Given the description of an element on the screen output the (x, y) to click on. 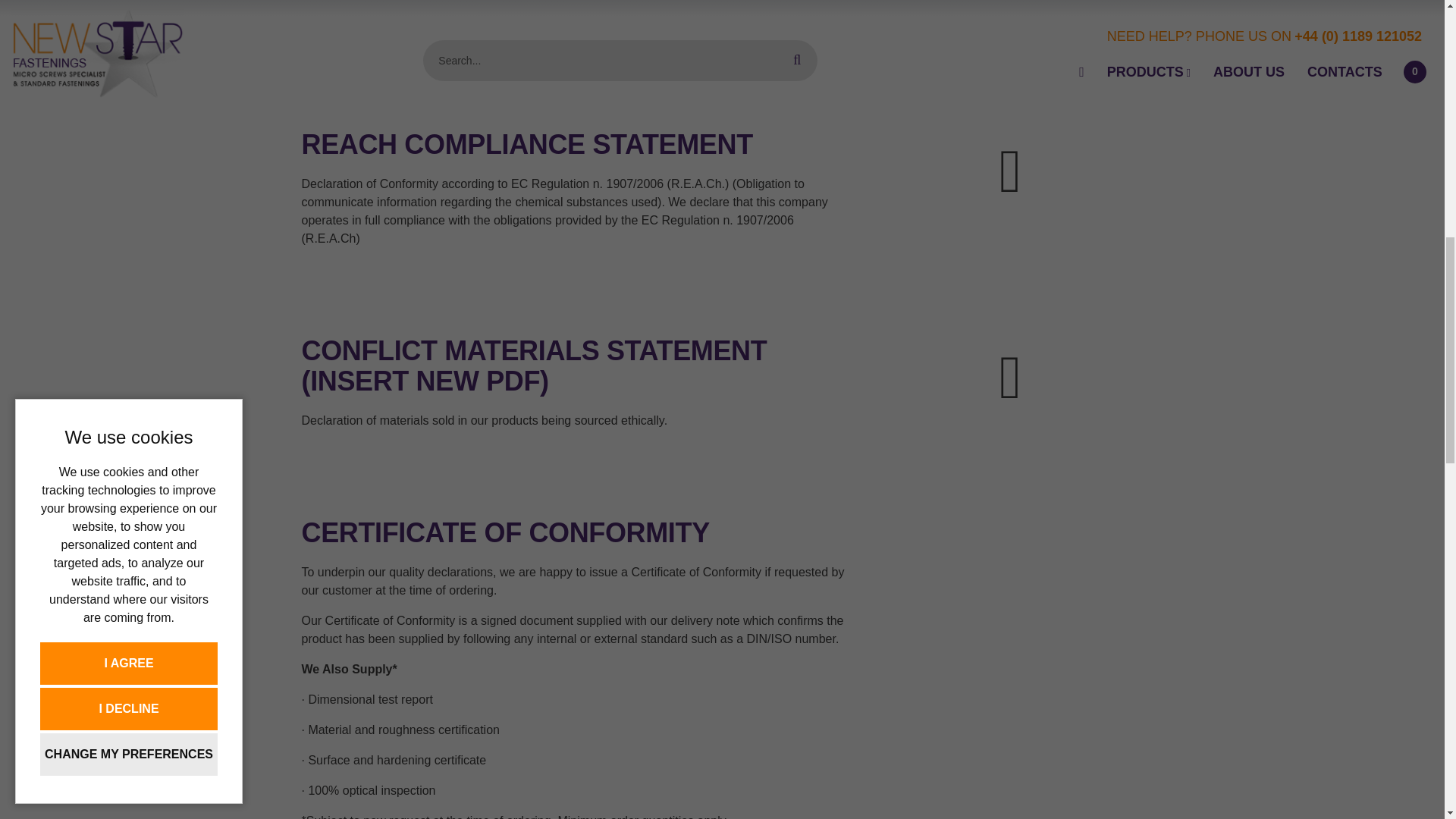
RoHS Compliance Statement (1009, 6)
Conflict Materials Statement (1009, 377)
REACH Compliance Statement (1009, 170)
